Given the description of an element on the screen output the (x, y) to click on. 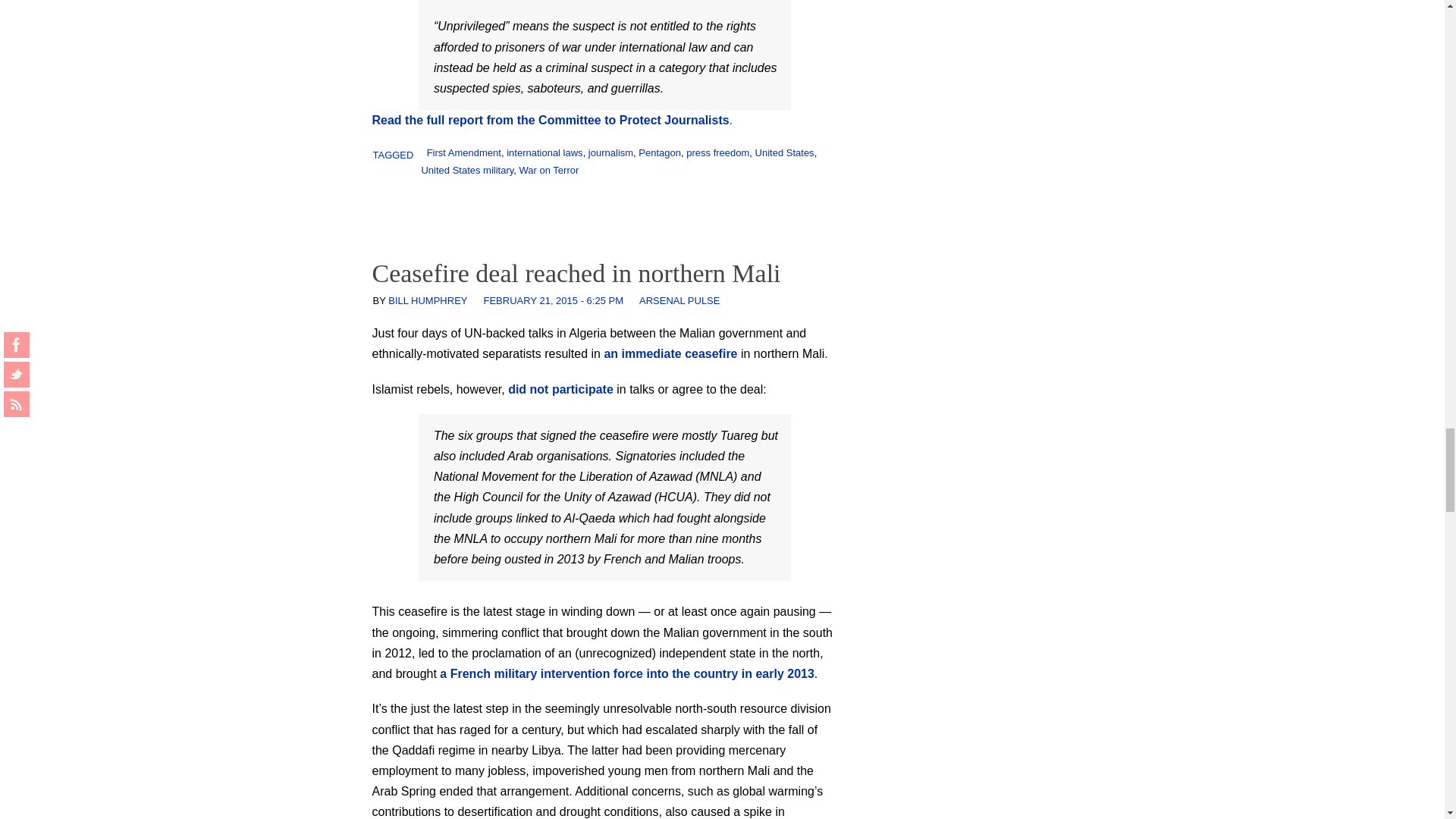
Permalink to Ceasefire deal reached in northern Mali (575, 273)
View all posts by Bill Humphrey (427, 300)
